Given the description of an element on the screen output the (x, y) to click on. 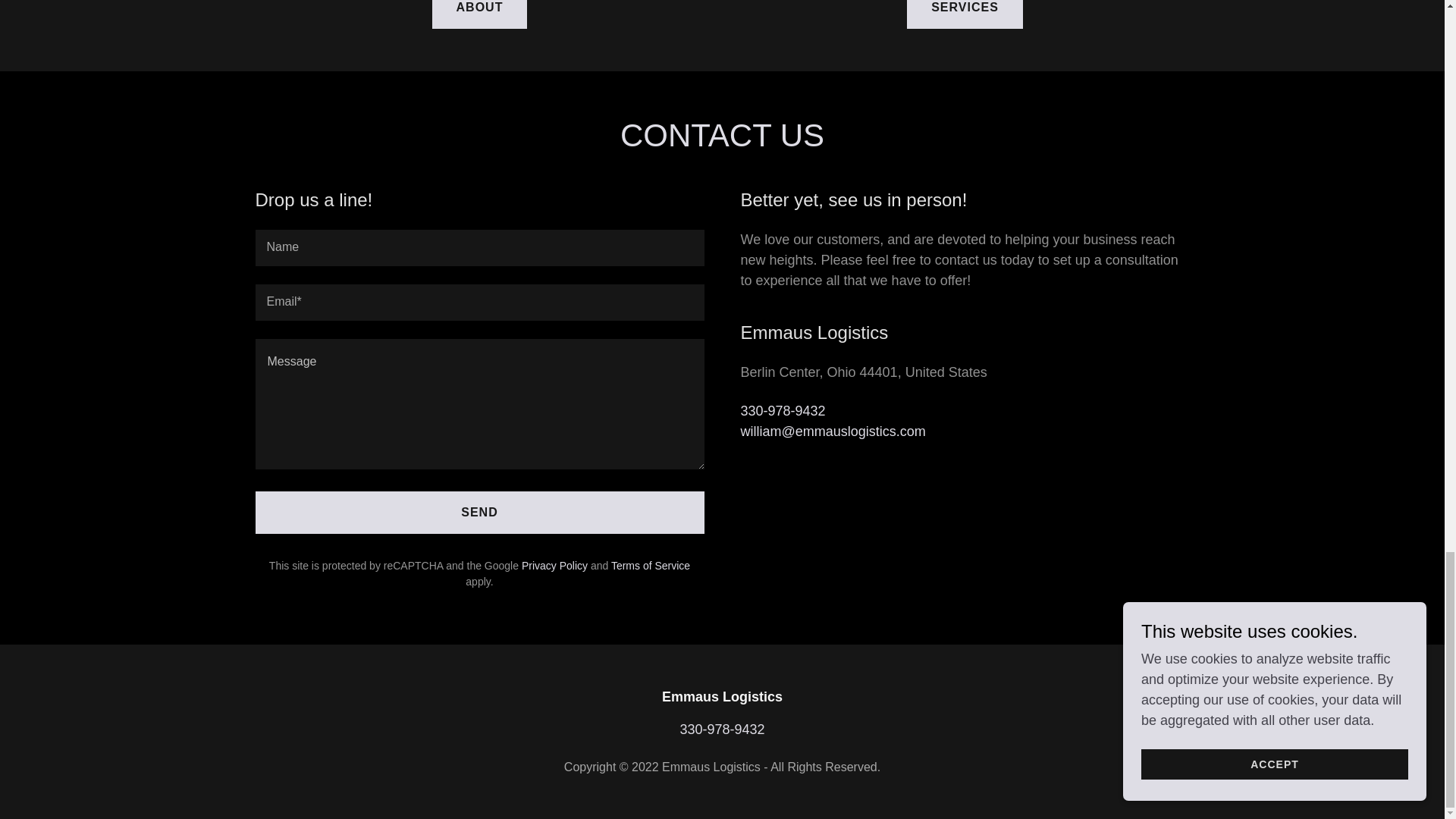
SERVICES (965, 14)
SEND (478, 512)
Terms of Service (650, 565)
330-978-9432 (721, 729)
330-978-9432 (782, 410)
Privacy Policy (554, 565)
ABOUT (479, 14)
